Given the description of an element on the screen output the (x, y) to click on. 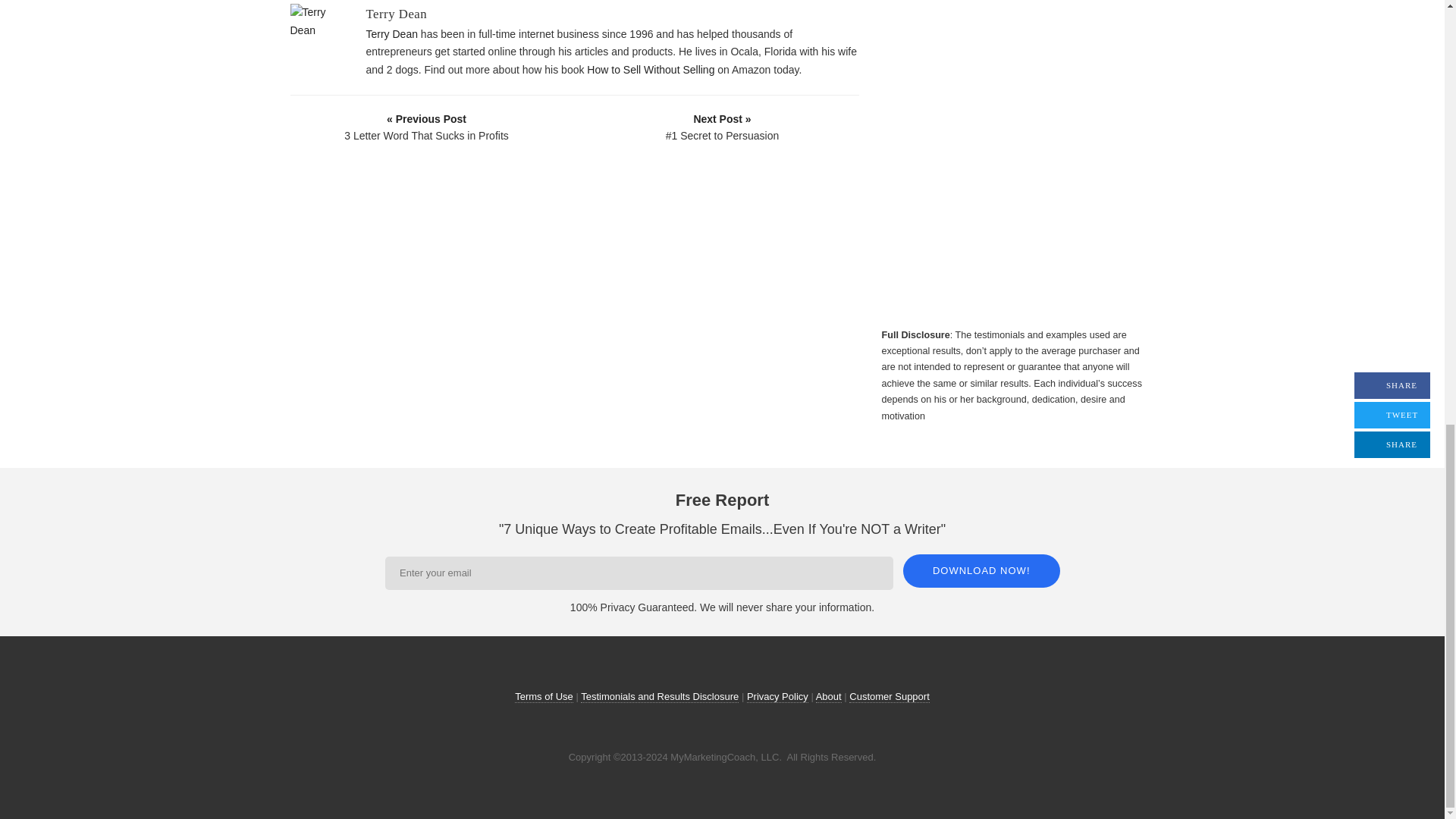
Privacy Policy (777, 696)
Testimonials and Results Disclosure (659, 696)
Customer Support (889, 696)
3 Letter Word That Sucks in Profits (427, 126)
DOWNLOAD NOW! (980, 571)
About (828, 696)
Terry Dean (395, 13)
How to Sell Without Selling (650, 69)
Terry Dean (390, 33)
Terms of Use (544, 696)
